Given the description of an element on the screen output the (x, y) to click on. 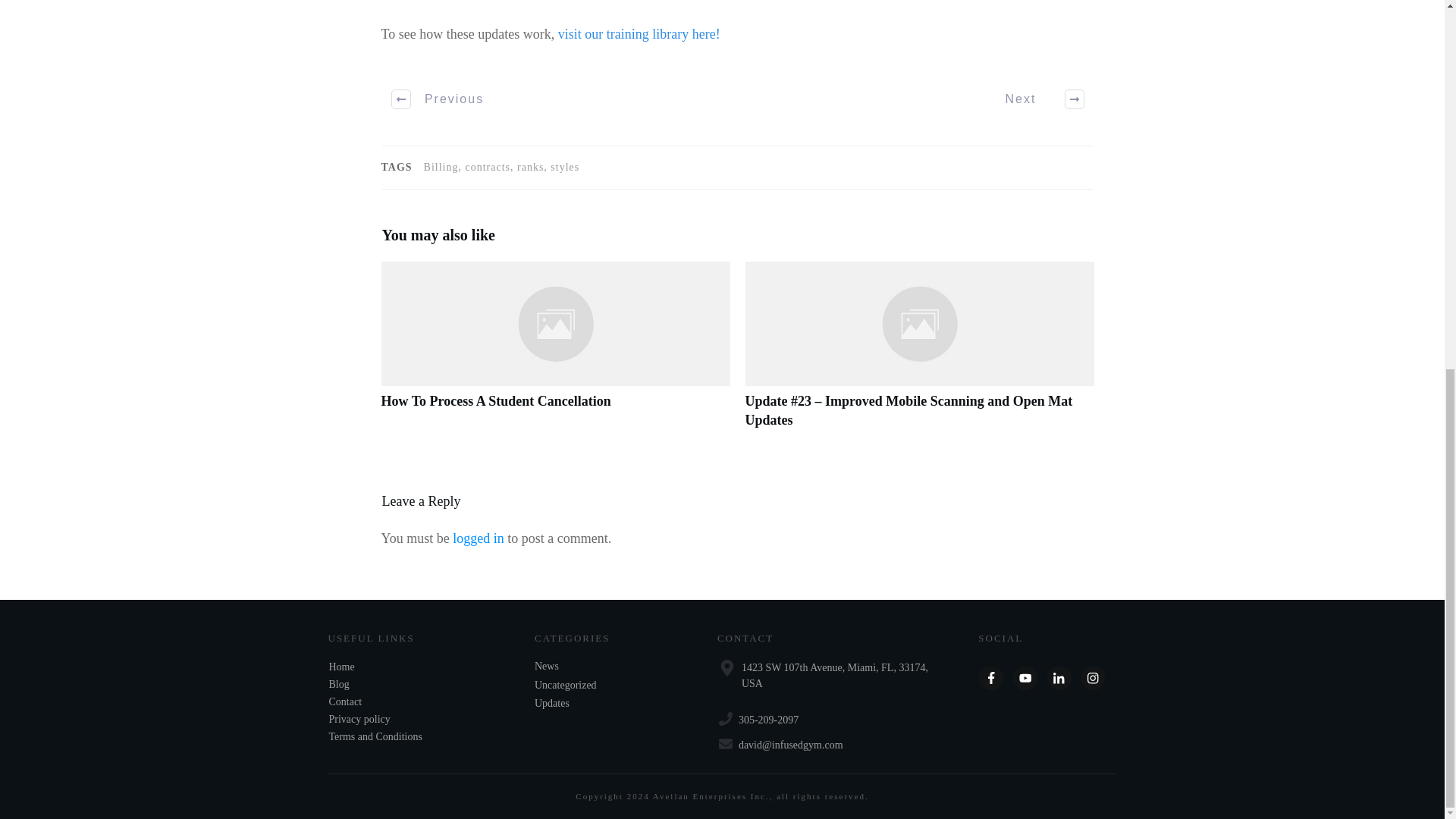
Contact (345, 701)
How To Process A Student Cancellation (495, 400)
Previous (438, 98)
logged in (477, 538)
How To Process A Student Cancellation (495, 400)
Terms and Conditions (375, 736)
visit our training library here! (638, 32)
Home (342, 666)
How To Process A Student Cancellation (554, 352)
Blog (339, 684)
